Given the description of an element on the screen output the (x, y) to click on. 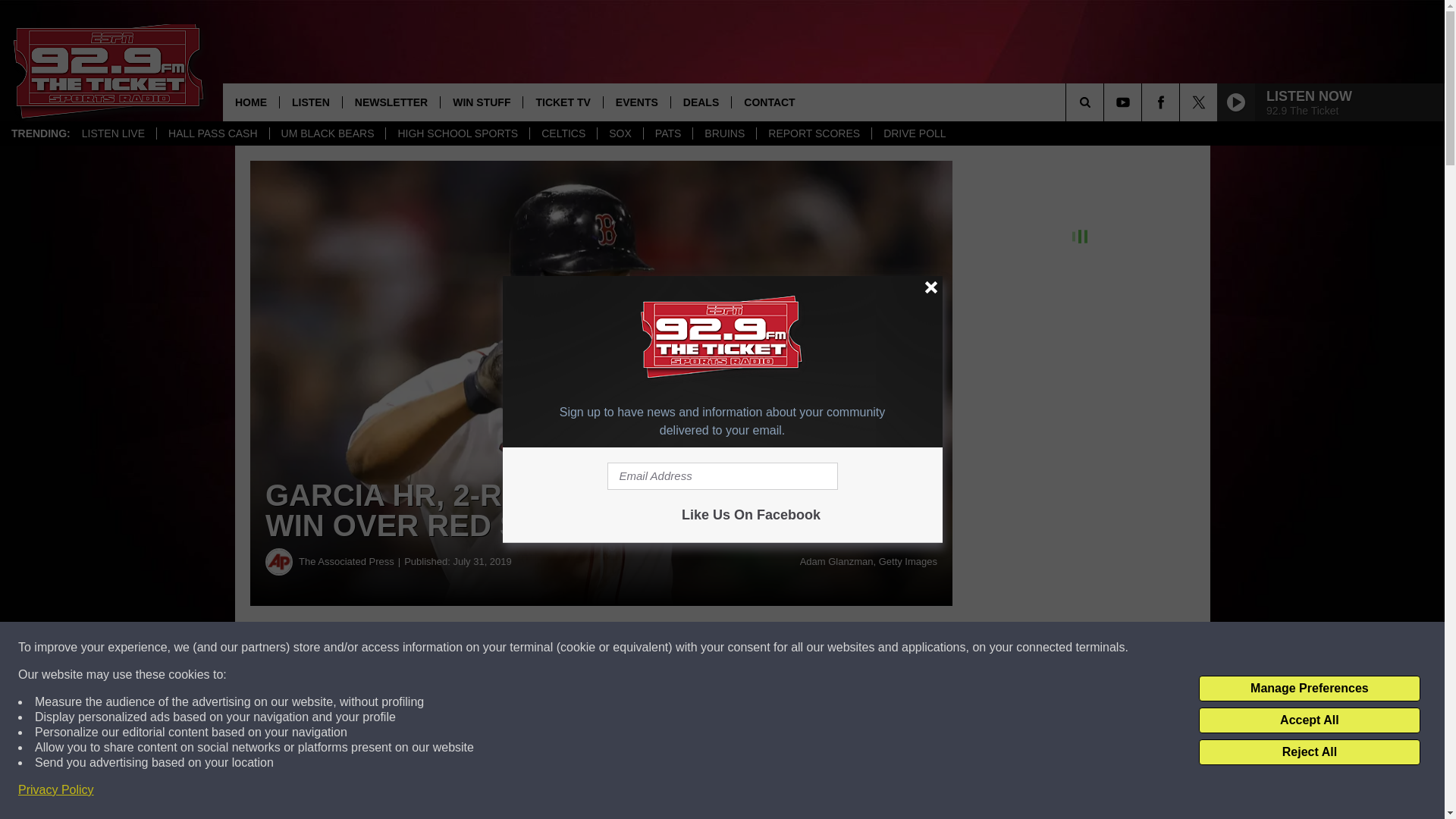
BRUINS (724, 133)
Manage Preferences (1309, 688)
NEWSLETTER (390, 102)
UM BLACK BEARS (327, 133)
SOX (619, 133)
CONTACT (768, 102)
DRIVE POLL (913, 133)
Share on Facebook (460, 647)
REPORT SCORES (812, 133)
LISTEN (310, 102)
CELTICS (562, 133)
Share on Twitter (741, 647)
Email Address (722, 475)
SEARCH (1106, 102)
WIN STUFF (480, 102)
